Given the description of an element on the screen output the (x, y) to click on. 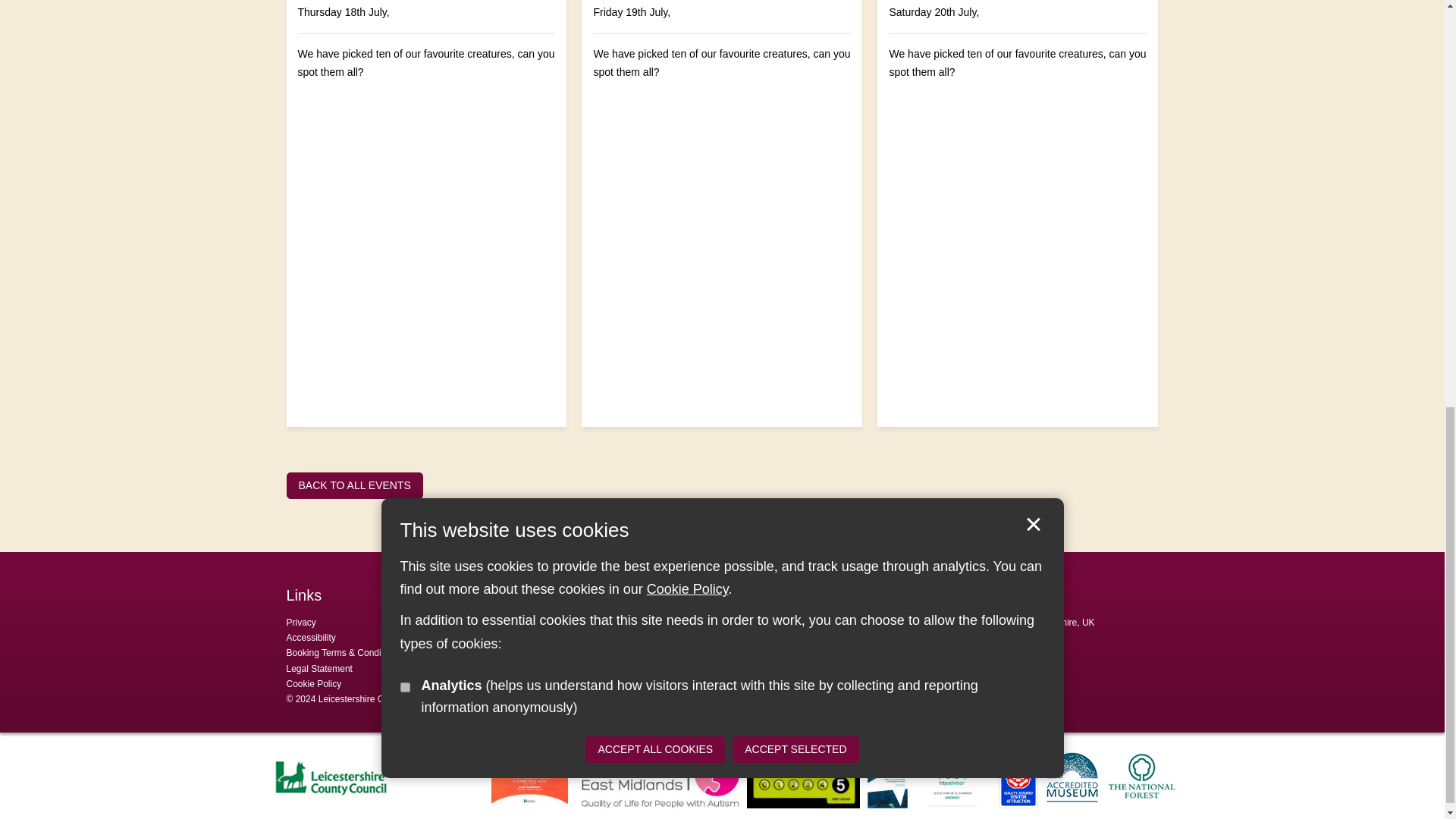
Children and Families (443, 187)
Back to all events (354, 485)
Children and Families (738, 187)
Children and Families (1034, 187)
